Given the description of an element on the screen output the (x, y) to click on. 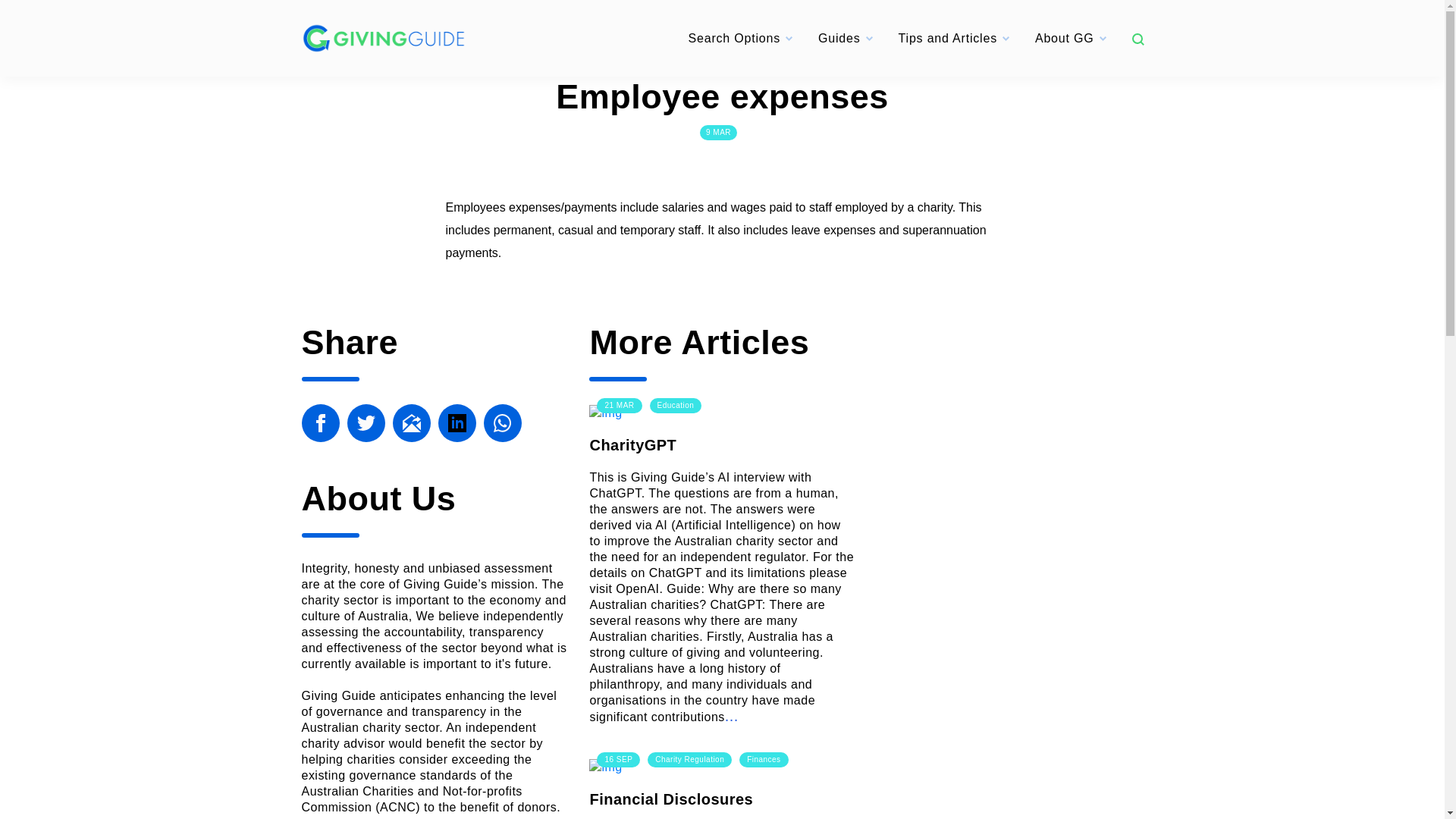
Tips and Articles (947, 38)
About GG (1064, 38)
Guides (839, 38)
Search Options (734, 38)
